Given the description of an element on the screen output the (x, y) to click on. 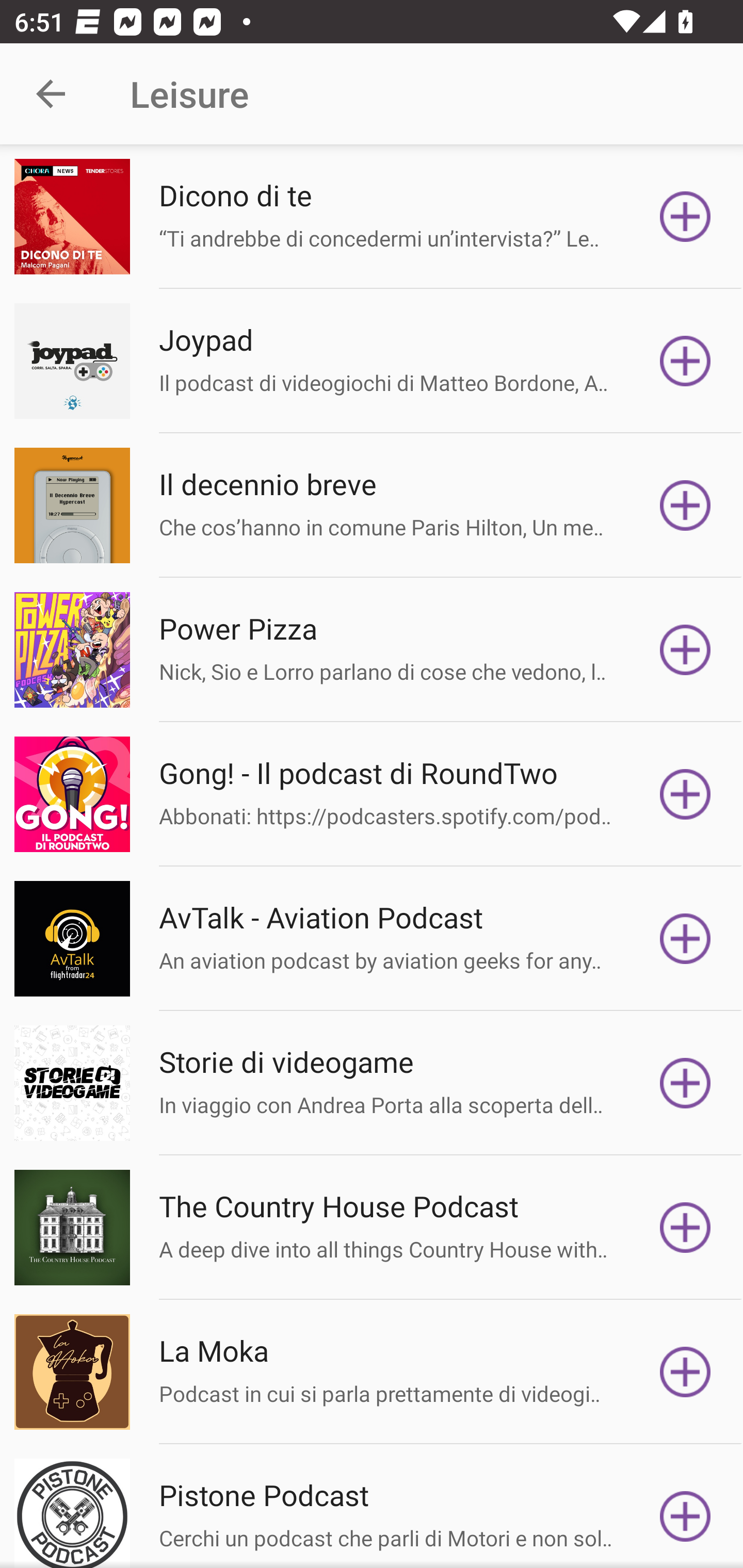
Navigate up (50, 93)
Subscribe (685, 216)
Subscribe (685, 360)
Subscribe (685, 505)
Subscribe (685, 649)
Subscribe (685, 793)
Subscribe (685, 939)
Subscribe (685, 1083)
Subscribe (685, 1227)
Subscribe (685, 1371)
Subscribe (685, 1513)
